Given the description of an element on the screen output the (x, y) to click on. 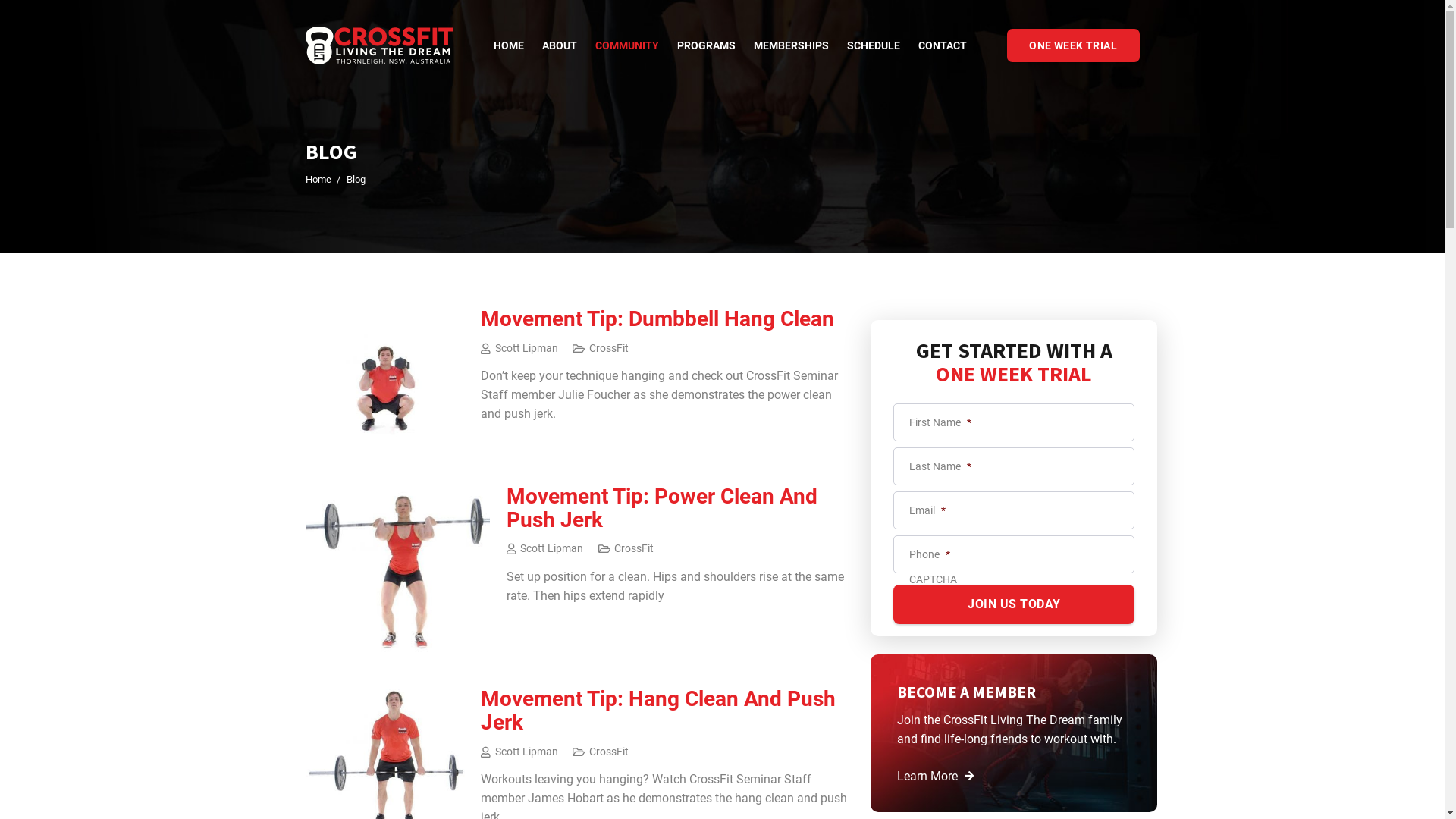
Movement Tip: Dumbbell Hang Clean Element type: text (657, 318)
Join Us Today Element type: text (1013, 603)
SCHEDULE Element type: text (873, 45)
CrossFit Element type: text (633, 548)
CONTACT Element type: text (942, 45)
Scott Lipman Element type: text (526, 347)
Blog Element type: text (355, 179)
ABOUT Element type: text (559, 45)
HOME Element type: text (508, 45)
PROGRAMS Element type: text (706, 45)
CrossFit Element type: text (608, 348)
COMMUNITY Element type: text (627, 45)
Scott Lipman Element type: text (526, 751)
ONE WEEK TRIAL Element type: text (1073, 45)
Movement Tip: Power Clean And Push Jerk Element type: text (661, 507)
CrossFit Element type: text (608, 751)
MEMBERSHIPS Element type: text (790, 45)
Movement Tip: Hang Clean And Push Jerk Element type: text (657, 710)
Home Element type: text (317, 179)
Scott Lipman Element type: text (551, 548)
